Given the description of an element on the screen output the (x, y) to click on. 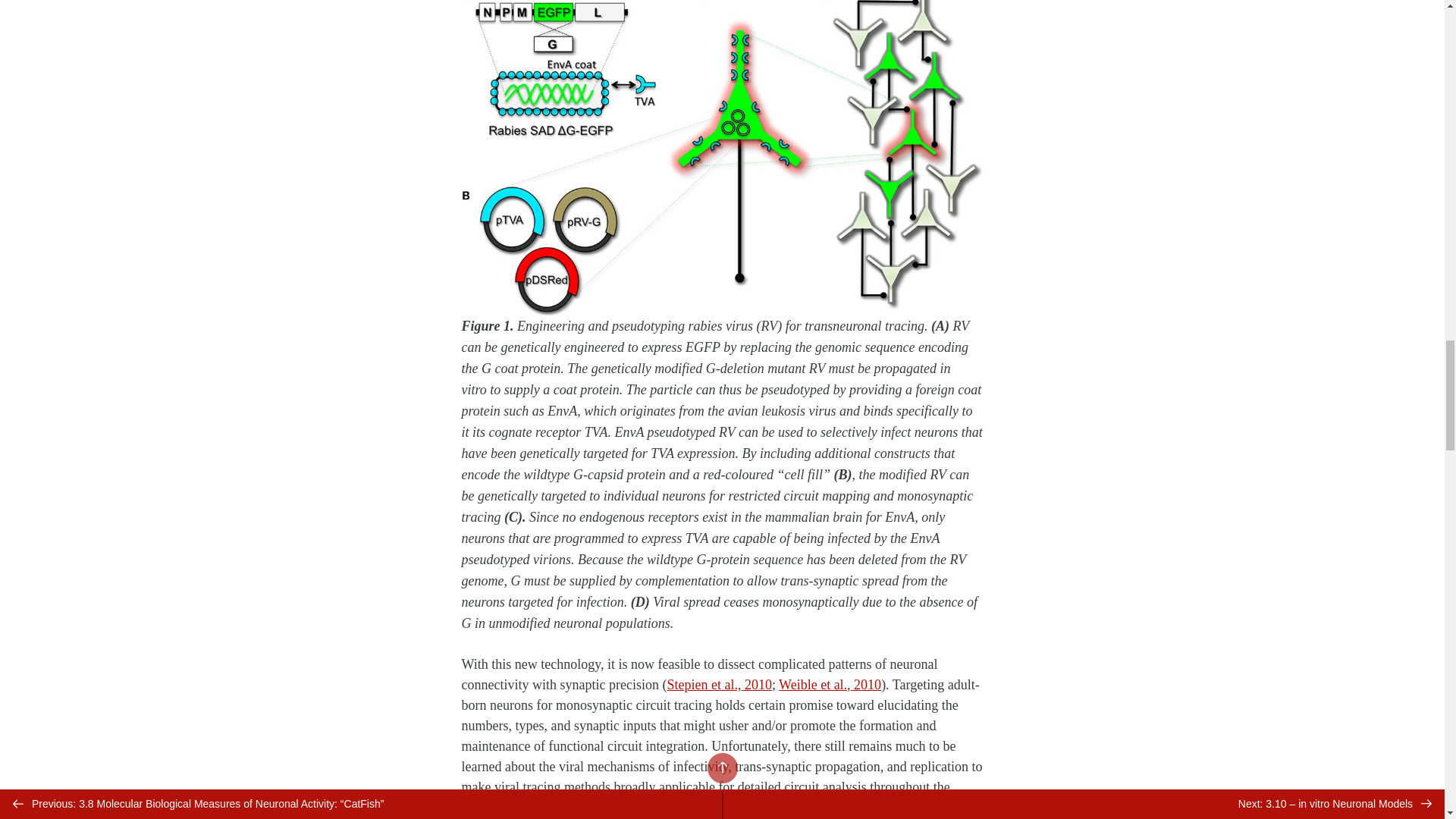
Stepien et al., 2010 (718, 684)
Weible et al., 2010 (829, 684)
